Given the description of an element on the screen output the (x, y) to click on. 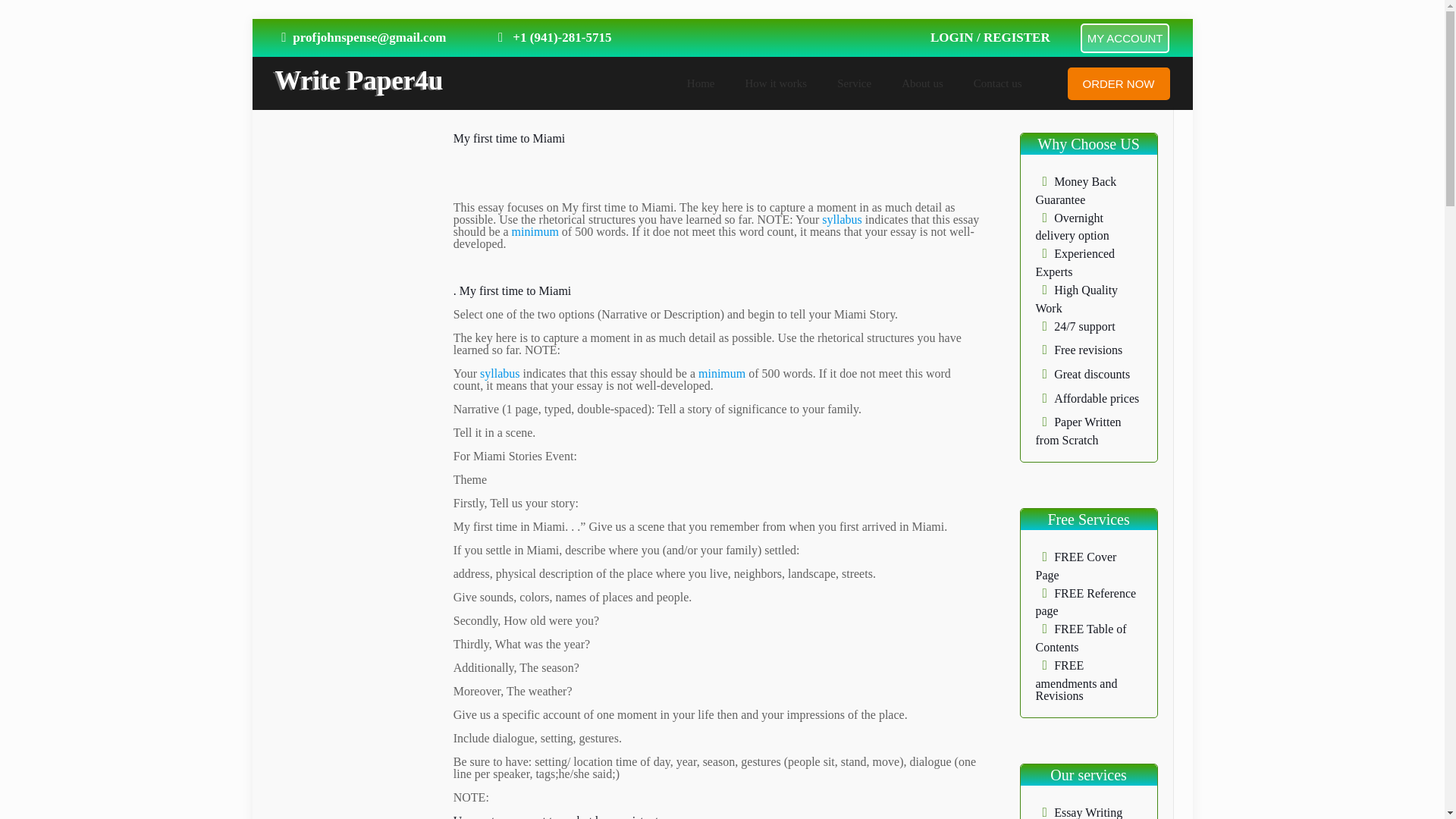
Home (700, 82)
LOGIN (953, 37)
minimum (533, 231)
Contact us (997, 82)
Write Paper4u (358, 80)
ORDER NOW (1118, 82)
Service (854, 82)
REGISTER (1016, 37)
syllabus (841, 219)
About us (922, 82)
